Given the description of an element on the screen output the (x, y) to click on. 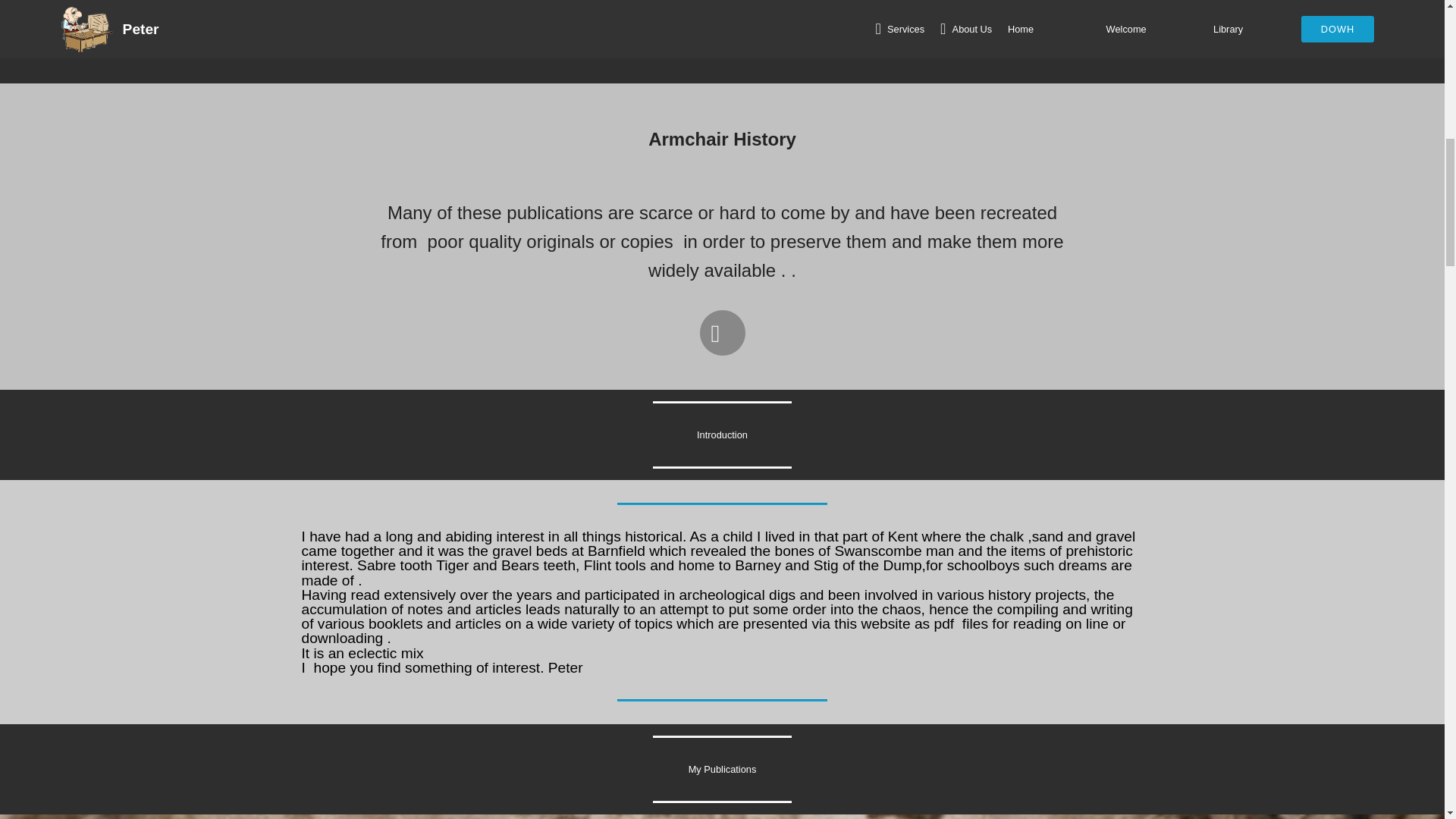
My Publications (722, 768)
Welcome (721, 41)
